Given the description of an element on the screen output the (x, y) to click on. 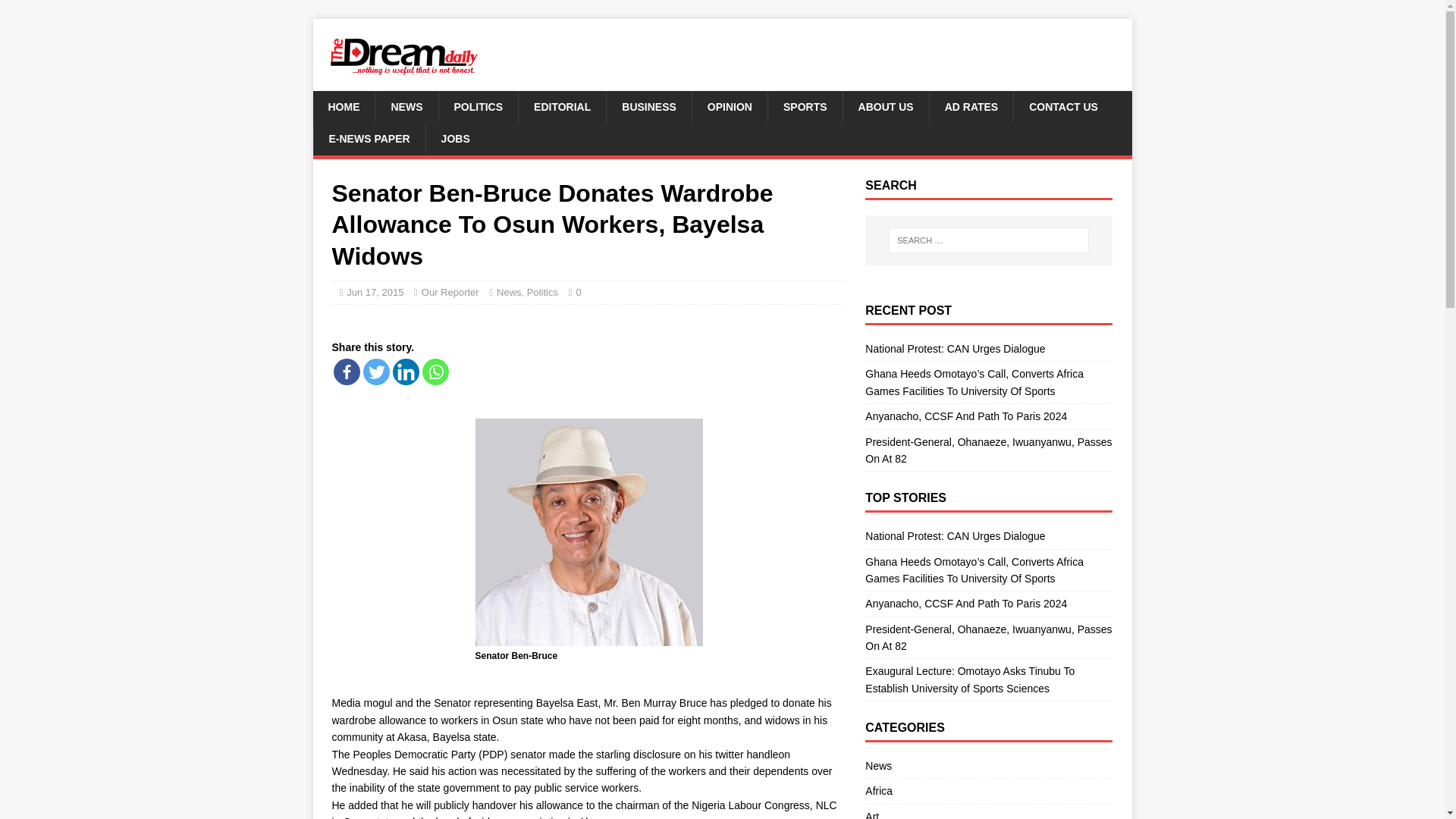
Jun 17, 2015 (374, 292)
EDITORIAL (561, 106)
Linkedin (406, 371)
SPORTS (805, 106)
OPINION (729, 106)
POLITICS (478, 106)
News (508, 292)
ABOUT US (885, 106)
CONTACT US (1063, 106)
HOME (343, 106)
Facebook (346, 371)
Whatsapp (435, 371)
Our Reporter (450, 292)
JOBS (454, 138)
E-NEWS PAPER (369, 138)
